Given the description of an element on the screen output the (x, y) to click on. 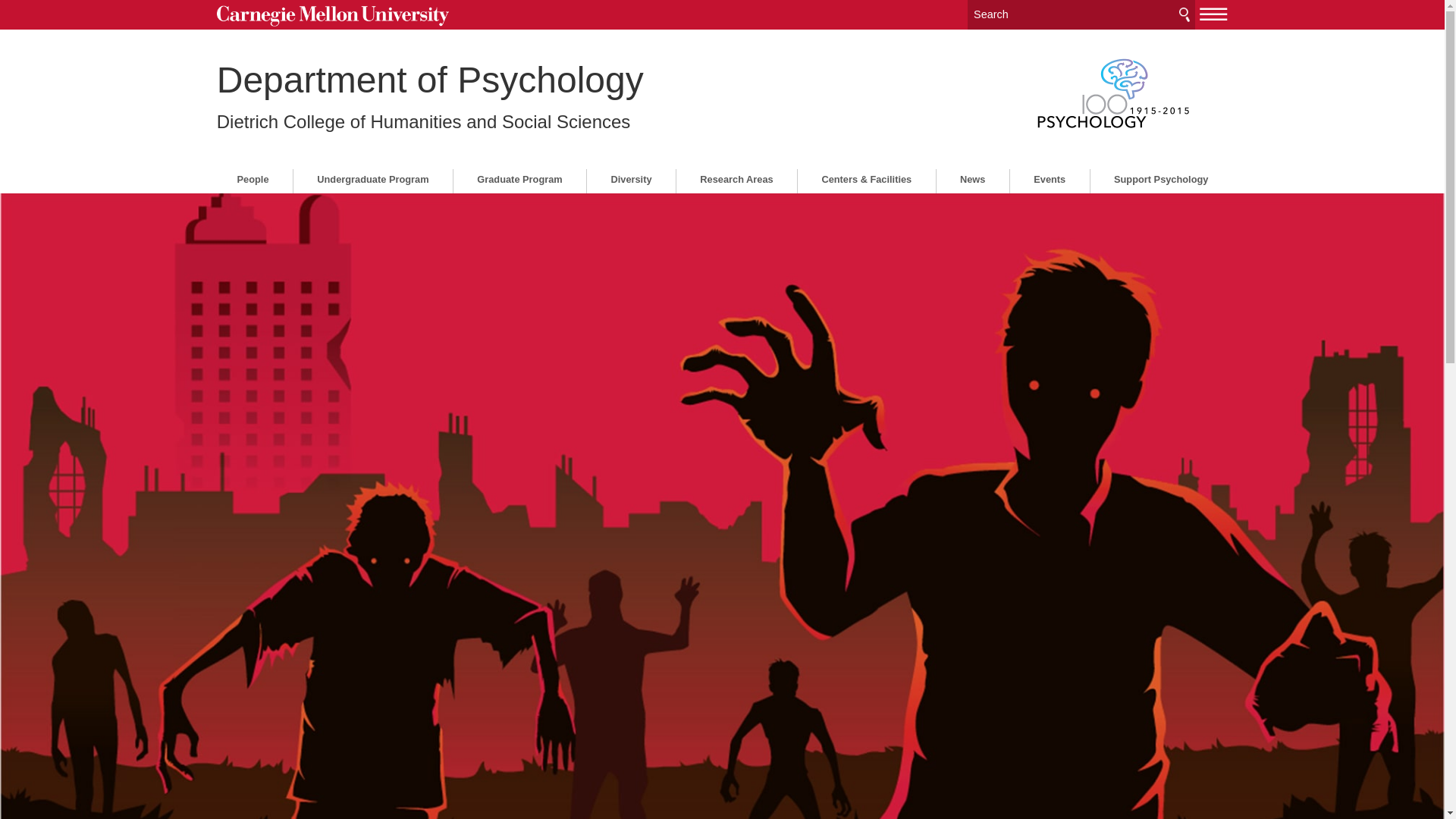
Diversity (631, 178)
News (972, 178)
Events (1048, 178)
People (252, 178)
Carnegie Mellon University (332, 15)
Department of Psychology (429, 79)
Support Psychology (1160, 178)
Graduate Program (520, 178)
Undergraduate Program (373, 178)
Dietrich College of Humanities and Social Sciences (423, 121)
Research Areas (737, 178)
